Given the description of an element on the screen output the (x, y) to click on. 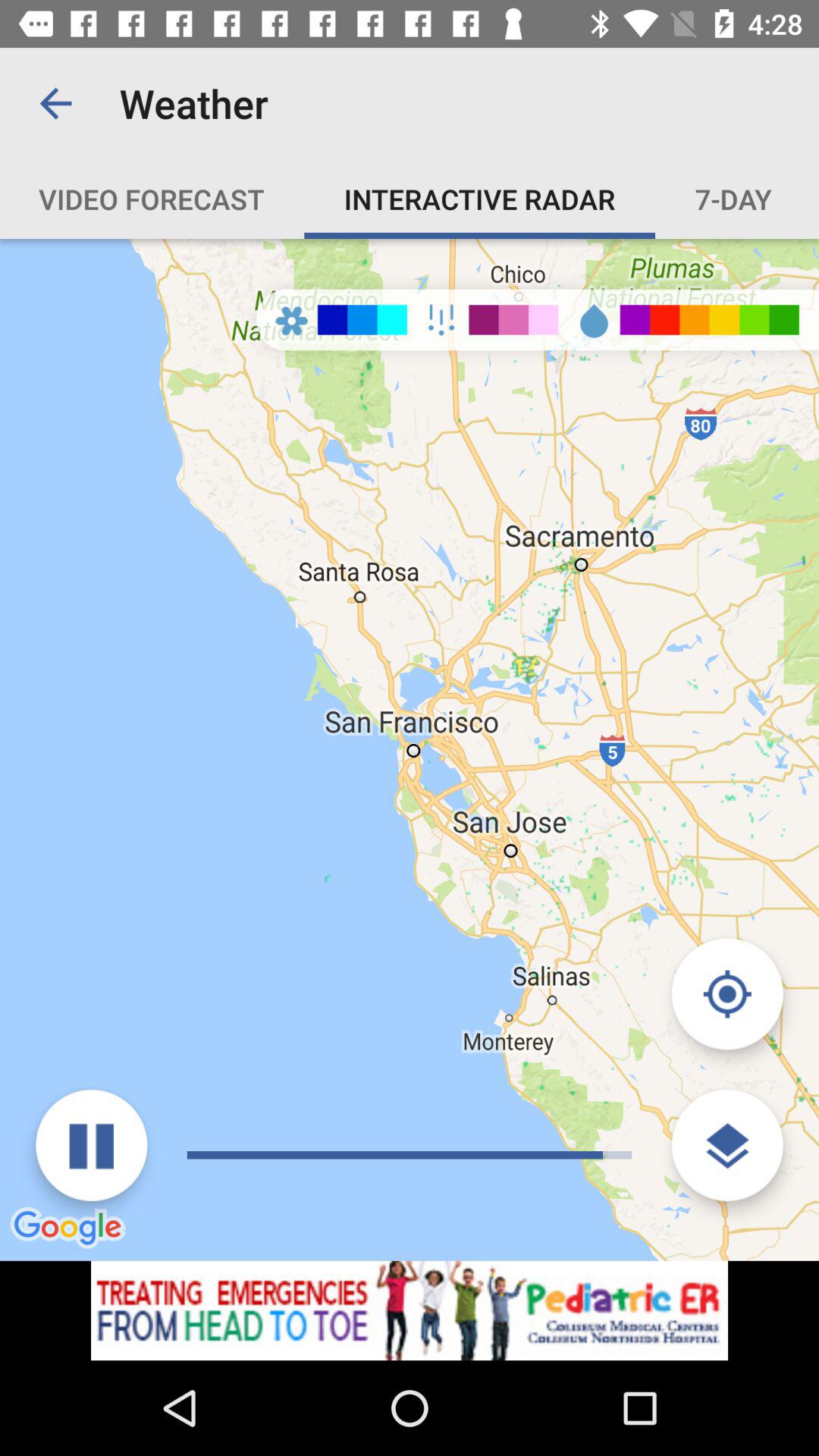
toggle landscape option (727, 1145)
